Given the description of an element on the screen output the (x, y) to click on. 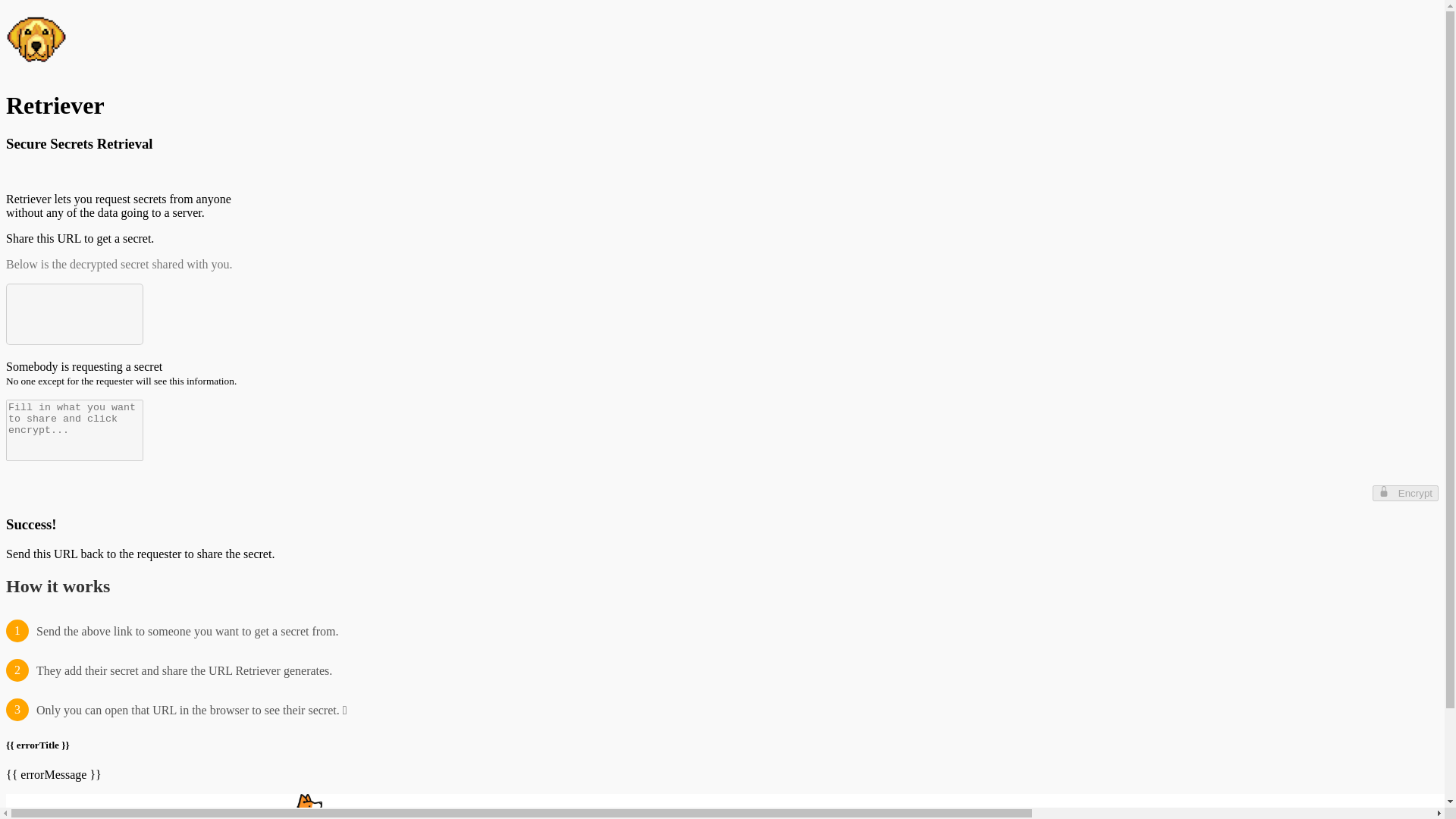
Corgea (398, 816)
Encrypt (1405, 493)
